Given the description of an element on the screen output the (x, y) to click on. 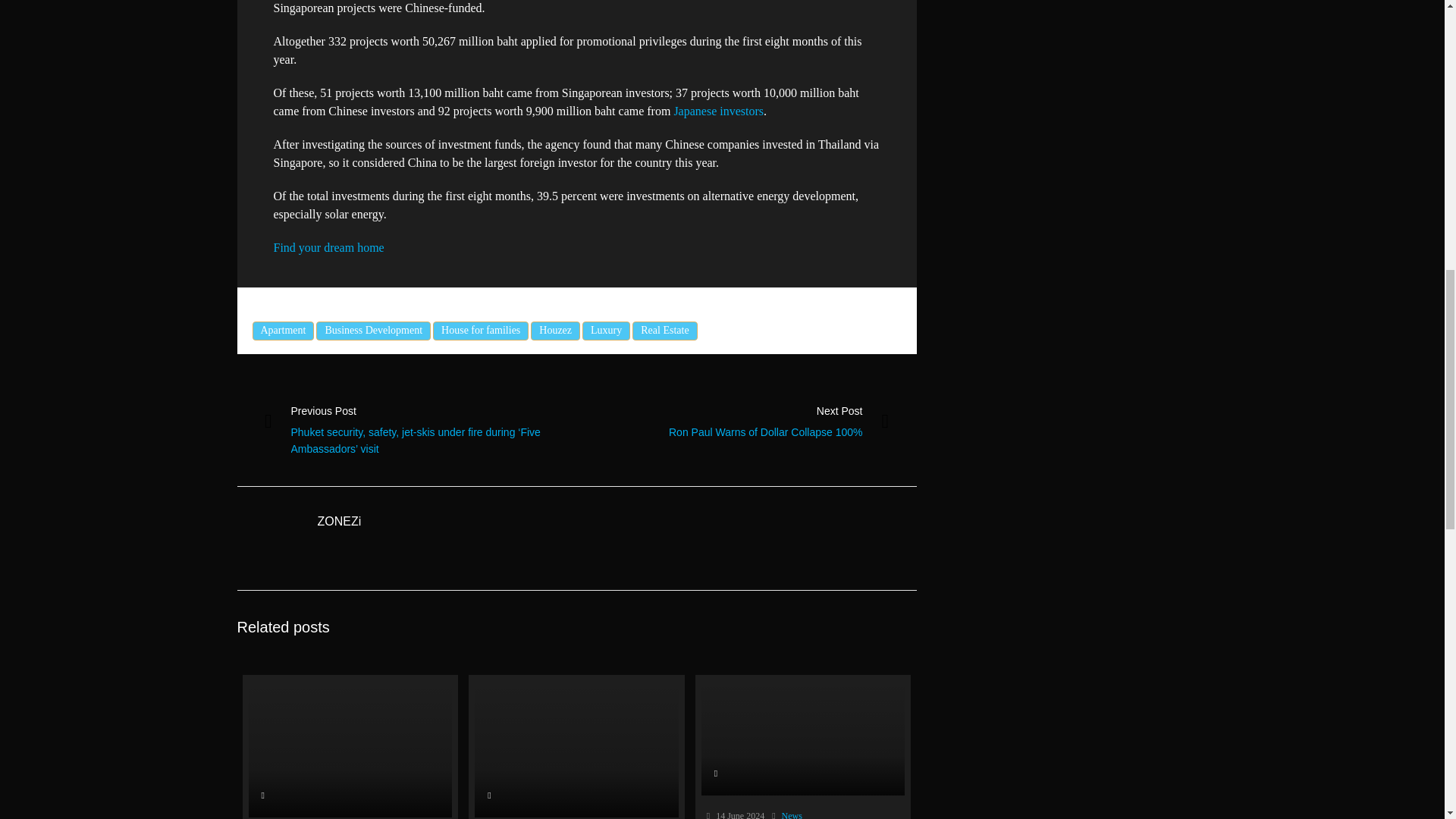
Find your dream home (328, 246)
Houzez (555, 330)
Real Estate (664, 330)
Apartment (282, 330)
Business Development (372, 330)
Luxury (606, 330)
House for families (480, 330)
Japanese investors (717, 110)
